Given the description of an element on the screen output the (x, y) to click on. 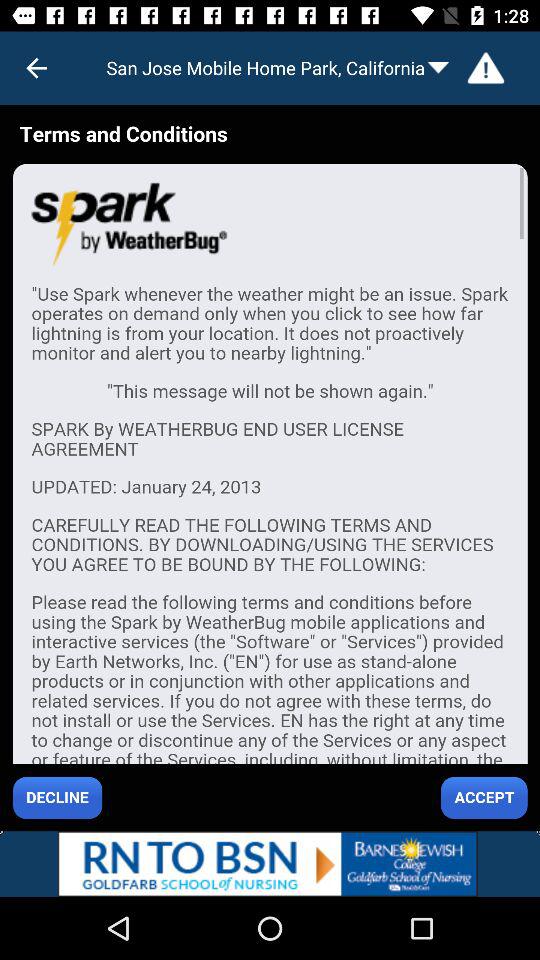
lower advertisement bar (270, 864)
